Given the description of an element on the screen output the (x, y) to click on. 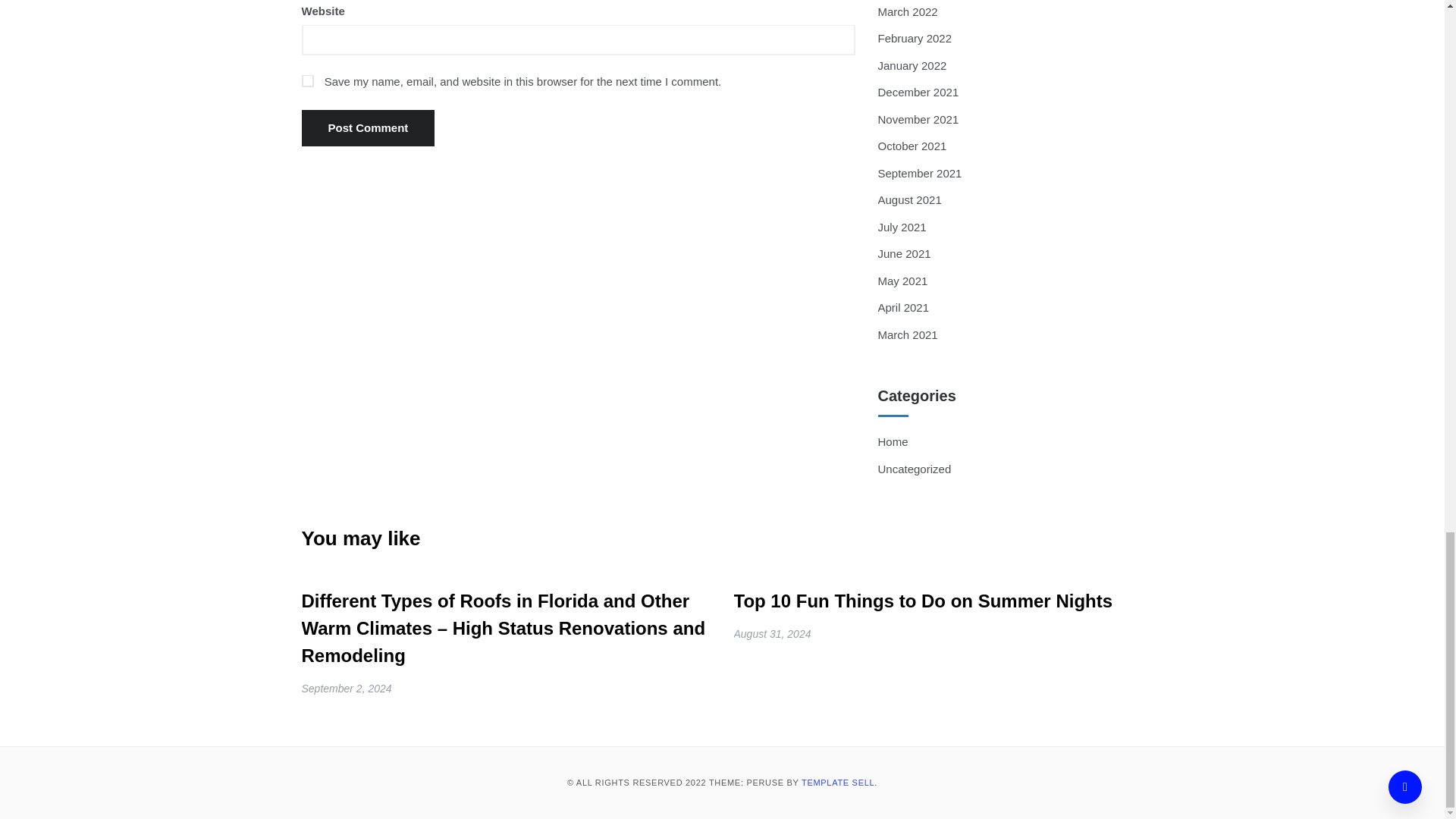
yes (307, 80)
Post Comment (368, 127)
Post Comment (368, 127)
